Given the description of an element on the screen output the (x, y) to click on. 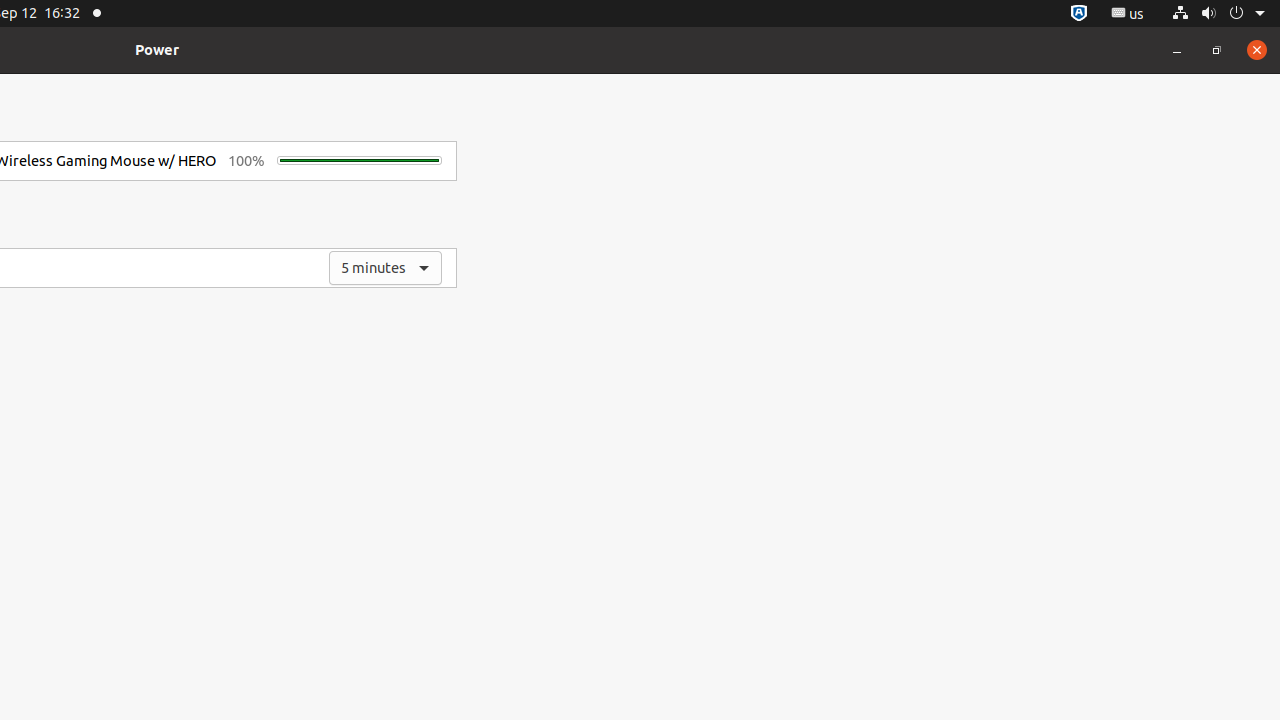
100% Element type: label (246, 161)
Minimize Element type: push-button (1177, 50)
Close Element type: push-button (1257, 50)
